Given the description of an element on the screen output the (x, y) to click on. 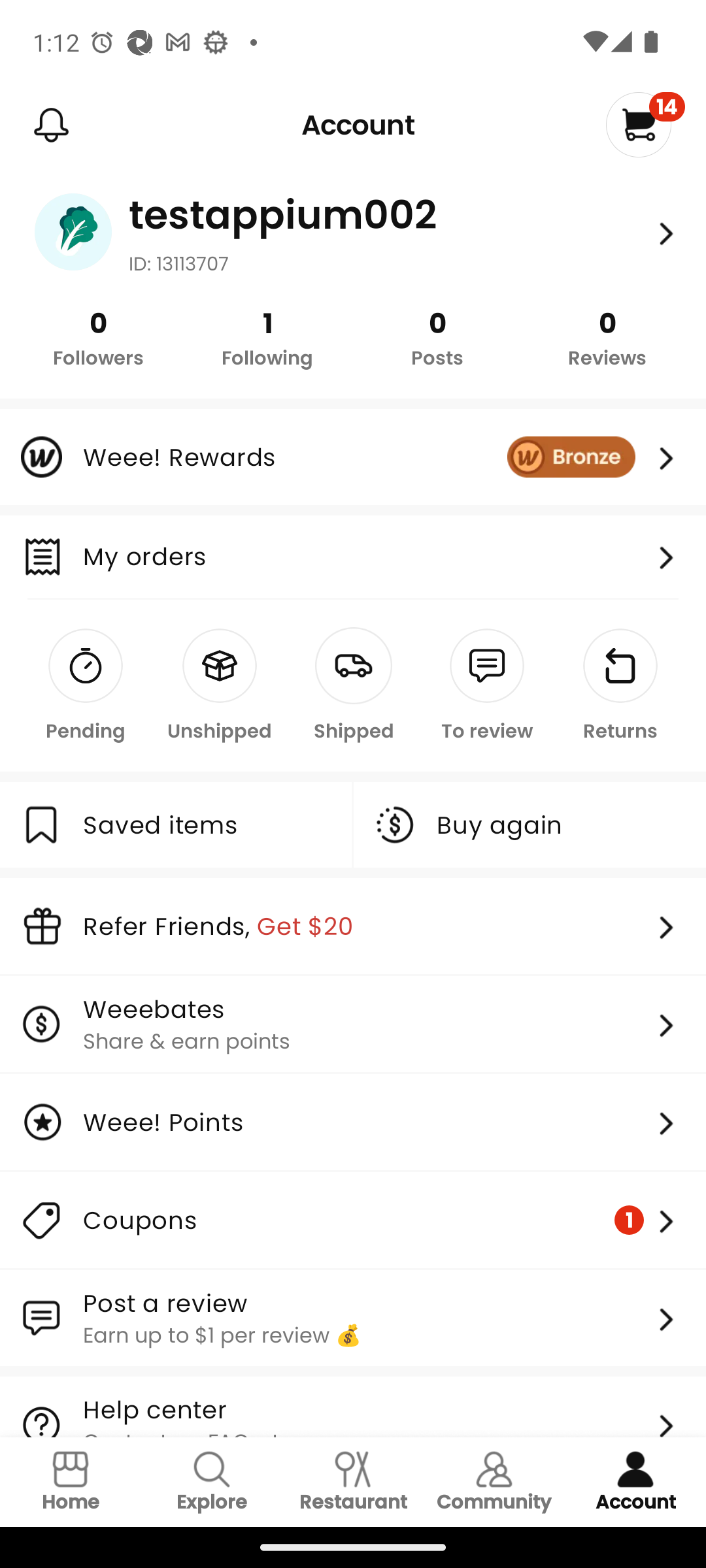
14 (644, 124)
0 Followers (98, 337)
1 Following (267, 337)
0 Posts (437, 337)
0 Reviews (606, 337)
Weee! Rewards (353, 456)
My orders (383, 556)
Pending (86, 685)
Unshipped (219, 685)
Shipped (353, 685)
To review (486, 685)
Returns (619, 685)
Saved items (175, 824)
Buy again (529, 824)
Refer Friends, Get $20 (353, 925)
Weeebates Share & earn points (353, 1023)
Weee! Points (353, 1121)
Coupons 1 (353, 1220)
Post a review Earn up to $1 per review 💰 (353, 1317)
Help center Contact us, FAQ, etc. (353, 1406)
Home (70, 1482)
Explore (211, 1482)
Restaurant (352, 1482)
Community (493, 1482)
Account (635, 1482)
